Given the description of an element on the screen output the (x, y) to click on. 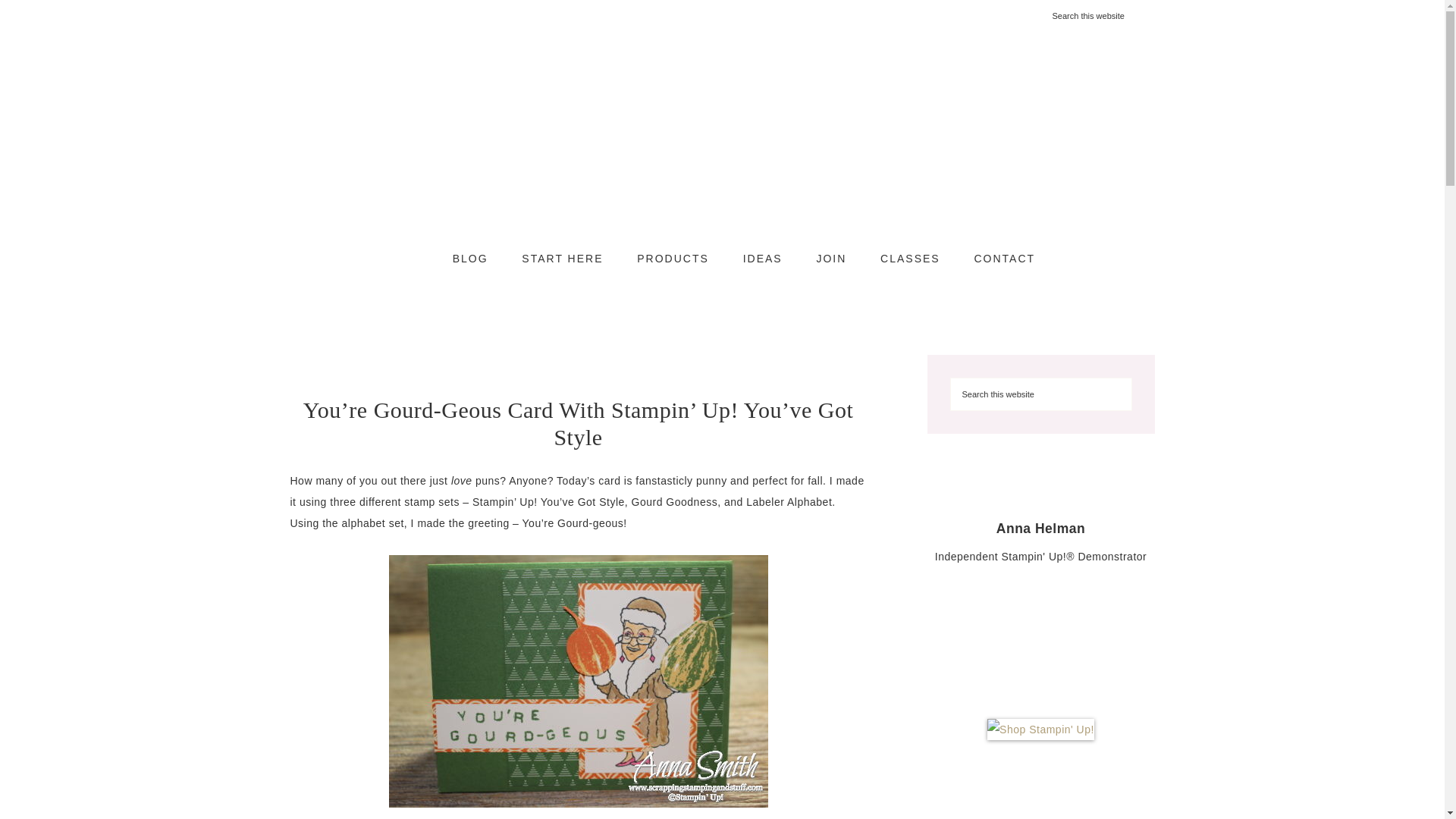
PRODUCTS (672, 258)
IDEAS (762, 258)
START HERE (561, 258)
HANDMAKE WITH LOVE (722, 144)
BLOG (470, 258)
